Given the description of an element on the screen output the (x, y) to click on. 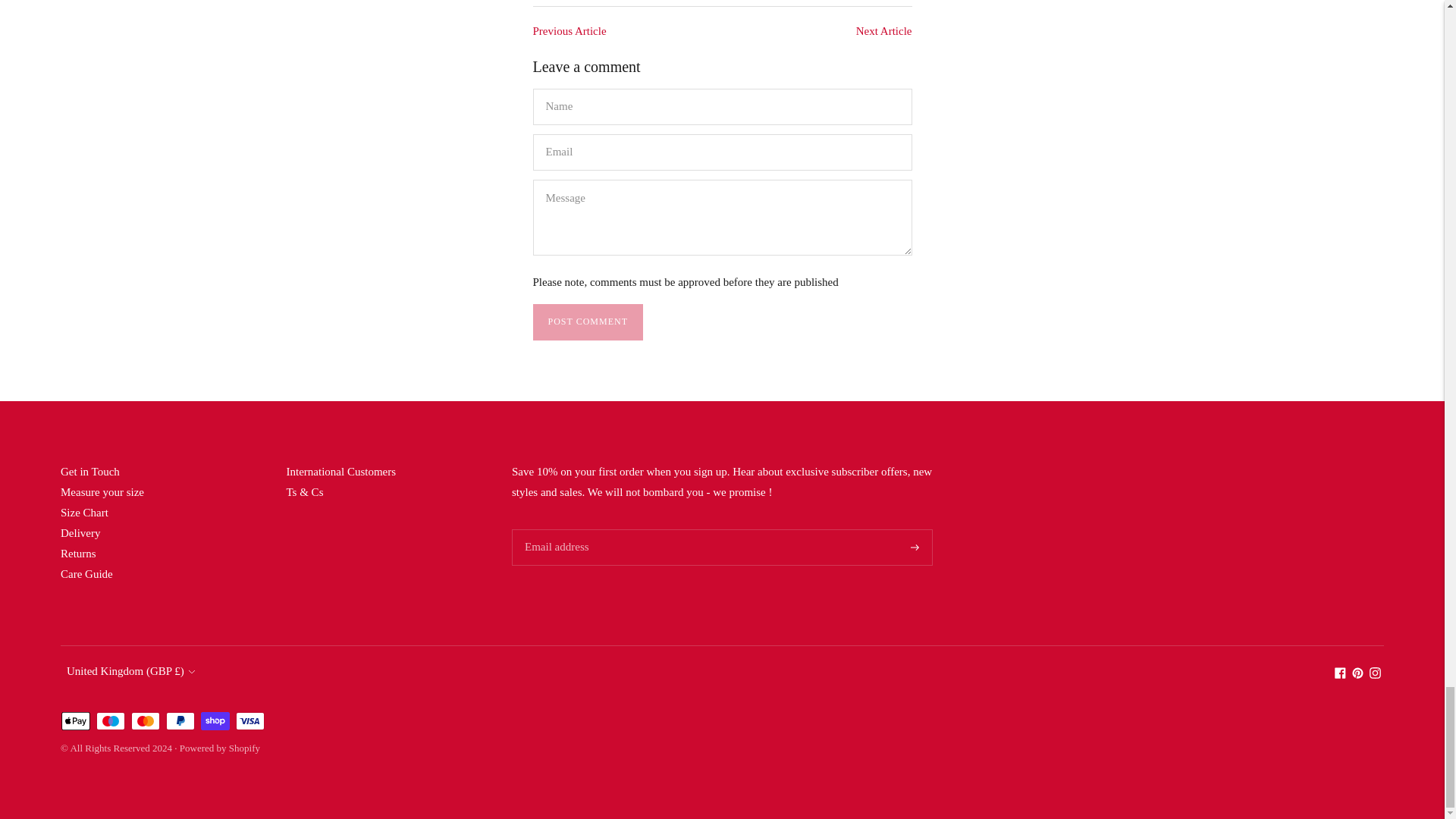
Justine Tabak on Instagram (1375, 674)
Justine Tabak on Pinterest (1357, 674)
Justine Tabak on Facebook (1340, 674)
